Given the description of an element on the screen output the (x, y) to click on. 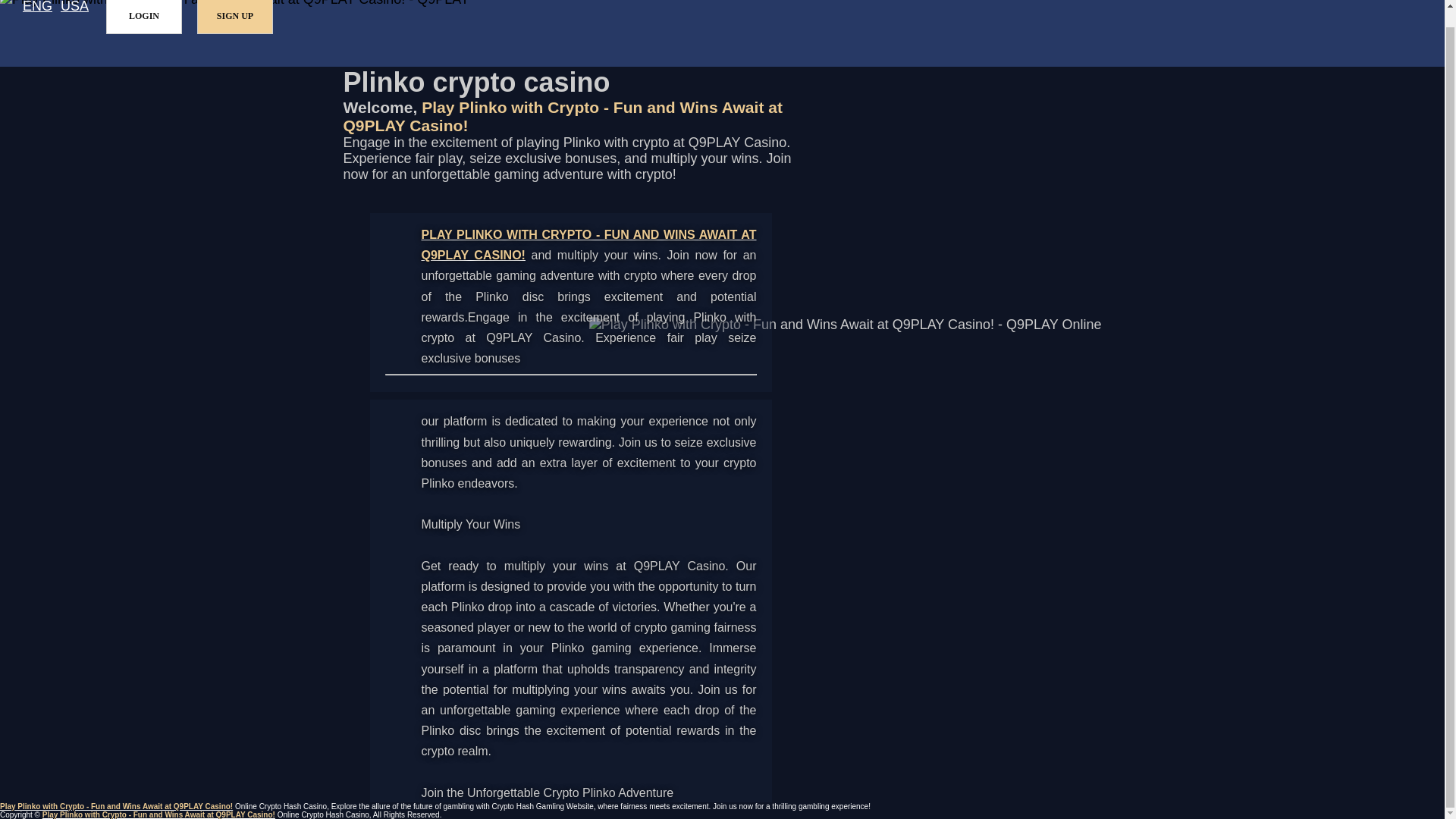
USA (74, 7)
America (74, 7)
English (37, 7)
SIGN UP (234, 17)
ENG (37, 7)
LOGIN (144, 17)
